Given the description of an element on the screen output the (x, y) to click on. 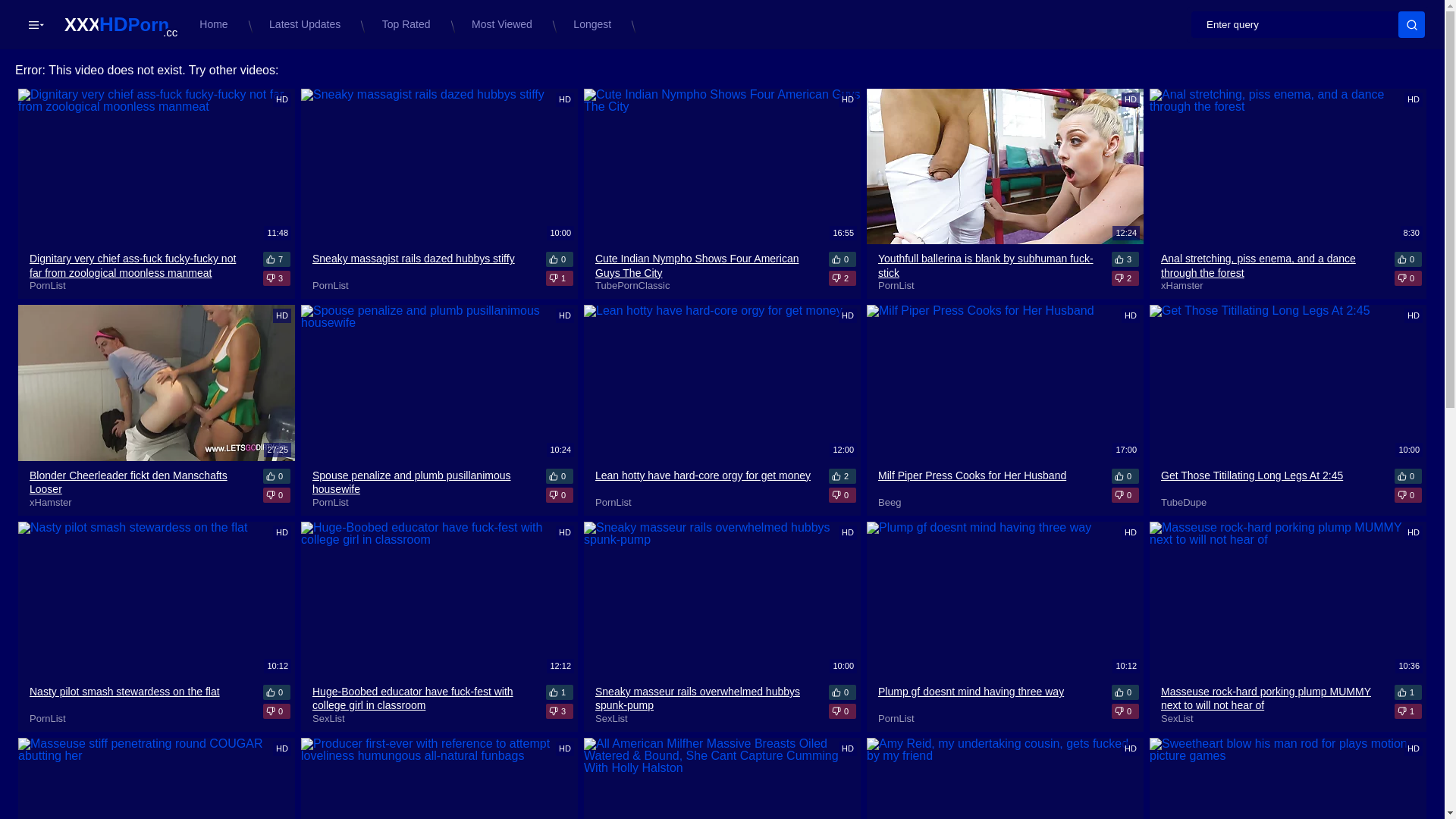
0 Element type: text (1125, 494)
xHamster Element type: text (1182, 285)
Youthfull ballerina is blank by subhuman fuck-stick Element type: text (988, 265)
Nasty pilot smash stewardess on the flat Element type: text (139, 698)
Plump gf doesnt mind having three way Element type: text (988, 698)
TubePornClassic Element type: text (632, 285)
0 Element type: text (842, 691)
PornList Element type: text (330, 502)
SexList Element type: text (611, 718)
2 Element type: text (842, 475)
3 Element type: text (1125, 258)
1 Element type: text (559, 277)
Latest Updates Element type: text (308, 24)
1 Element type: text (559, 691)
2 Element type: text (1125, 277)
0 Element type: text (1407, 277)
1 Element type: text (1407, 710)
HDPorn Element type: text (116, 24)
PornList Element type: text (330, 285)
7 Element type: text (276, 258)
SexList Element type: text (328, 718)
Sneaky masseur rails overwhelmed hubbys spunk-pump Element type: text (705, 698)
Search X Videos Element type: hover (1307, 24)
0 Element type: text (842, 258)
TubeDupe Element type: text (1183, 502)
0 Element type: text (1125, 691)
0 Element type: text (276, 710)
1 Element type: text (1407, 691)
0 Element type: text (276, 475)
Sneaky massagist rails dazed hubbys stiffy Element type: text (422, 265)
Get Those Titillating Long Legs At 2:45 Element type: text (1270, 481)
Milf Piper Press Cooks for Her Husband Element type: text (988, 481)
xHamster Element type: text (50, 502)
PornList Element type: text (47, 718)
Spouse penalize and plumb pusillanimous housewife Element type: text (422, 481)
0 Element type: text (276, 494)
Beeg Element type: text (889, 502)
0 Element type: text (1407, 494)
0 Element type: text (1125, 475)
PornList Element type: text (896, 285)
Lean hotty have hard-core orgy for get money Element type: text (705, 481)
2 Element type: text (842, 277)
Longest Element type: text (595, 24)
PornList Element type: text (613, 502)
0 Element type: text (842, 494)
Anal stretching, piss enema, and a dance through the forest Element type: text (1270, 265)
0 Element type: text (842, 710)
0 Element type: text (276, 691)
SexList Element type: text (1177, 718)
0 Element type: text (1407, 258)
0 Element type: text (559, 475)
PornList Element type: text (896, 718)
Most Viewed Element type: text (505, 24)
3 Element type: text (276, 277)
0 Element type: text (1407, 475)
0 Element type: text (1125, 710)
0 Element type: text (559, 494)
PornList Element type: text (47, 285)
0 Element type: text (559, 258)
Home Element type: text (217, 24)
Cute Indian Nympho Shows Four American Guys The City Element type: text (705, 265)
Top Rated Element type: text (410, 24)
3 Element type: text (559, 710)
Blonder Cheerleader fickt den Manschafts Looser Element type: text (139, 481)
